Given the description of an element on the screen output the (x, y) to click on. 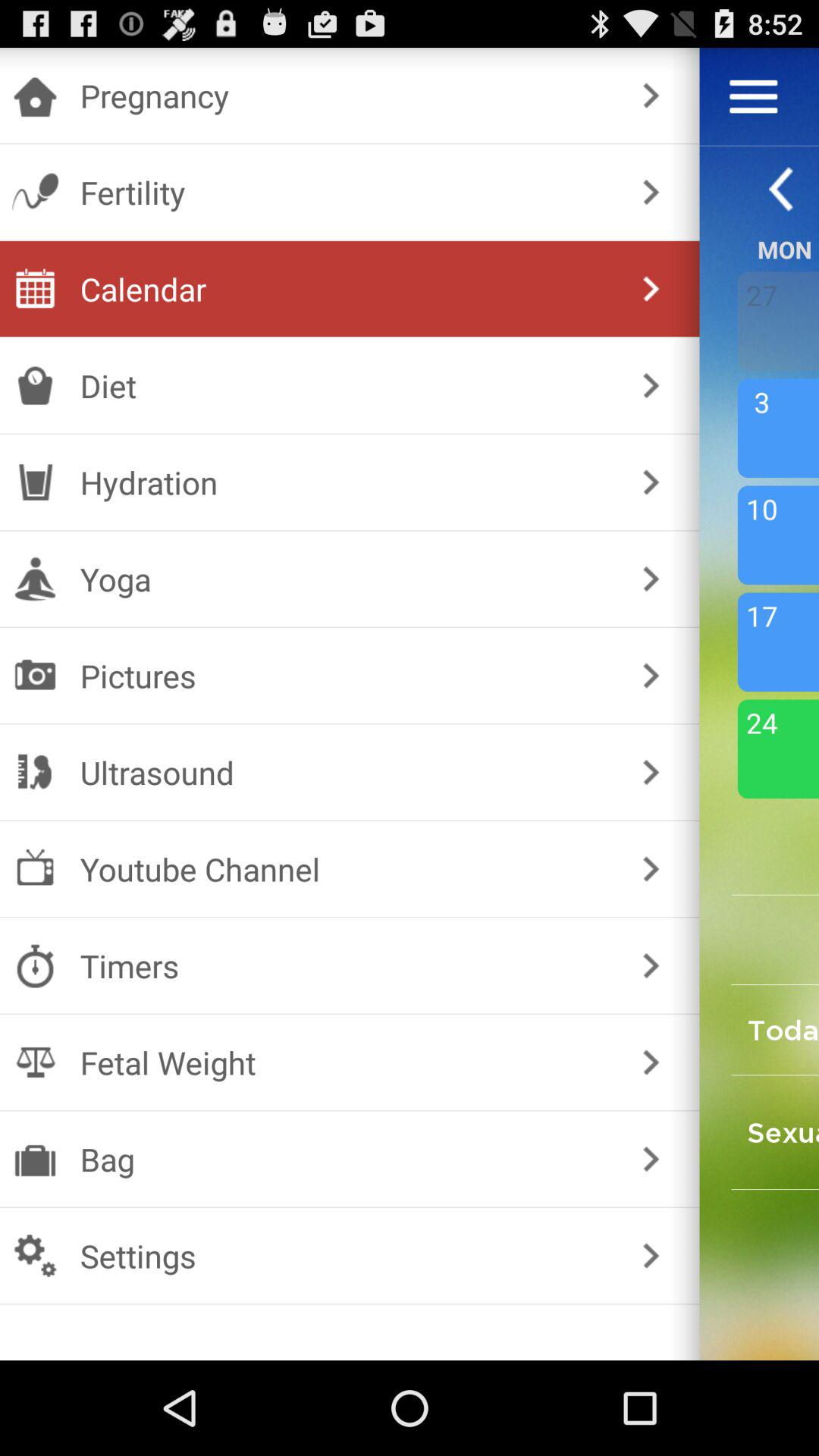
launch the item below the timers (346, 1062)
